Given the description of an element on the screen output the (x, y) to click on. 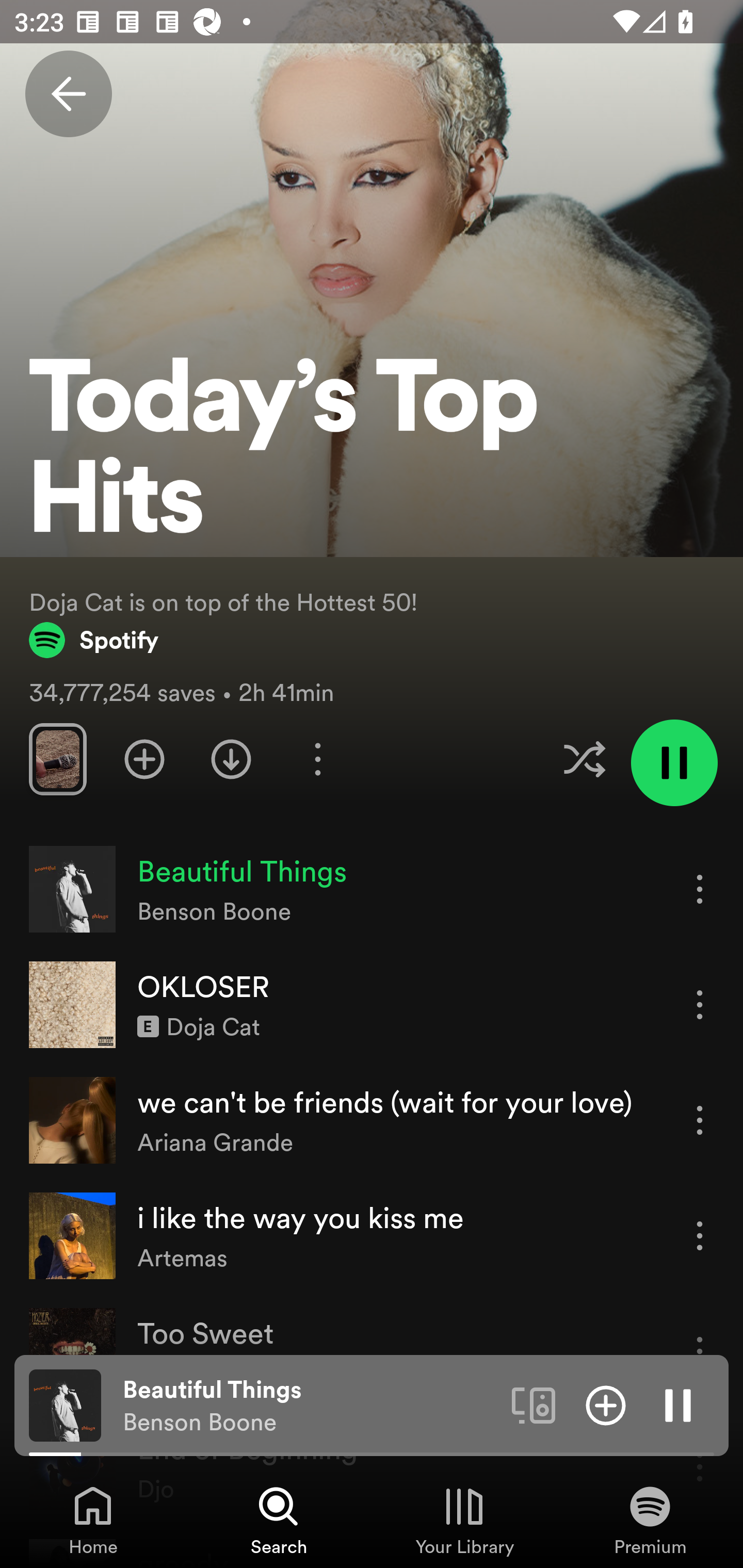
Back (68, 93)
Spotify (93, 640)
Swipe through previews of tracks in this playlist. (57, 759)
Add playlist to Your Library (144, 759)
Download (230, 759)
More options for playlist Today’s Top Hits (317, 759)
Enable shuffle for this playlist (583, 759)
Pause playlist (674, 762)
More options for song Beautiful Things (699, 888)
More options for song OKLOSER (699, 1004)
More options for song i like the way you kiss me (699, 1236)
Too Sweet Hozier More options for song Too Sweet (371, 1351)
Beautiful Things Benson Boone (309, 1405)
The cover art of the currently playing track (64, 1404)
Connect to a device. Opens the devices menu (533, 1404)
Add item (605, 1404)
Pause (677, 1404)
Home, Tab 1 of 4 Home Home (92, 1519)
Search, Tab 2 of 4 Search Search (278, 1519)
Your Library, Tab 3 of 4 Your Library Your Library (464, 1519)
Premium, Tab 4 of 4 Premium Premium (650, 1519)
